Given the description of an element on the screen output the (x, y) to click on. 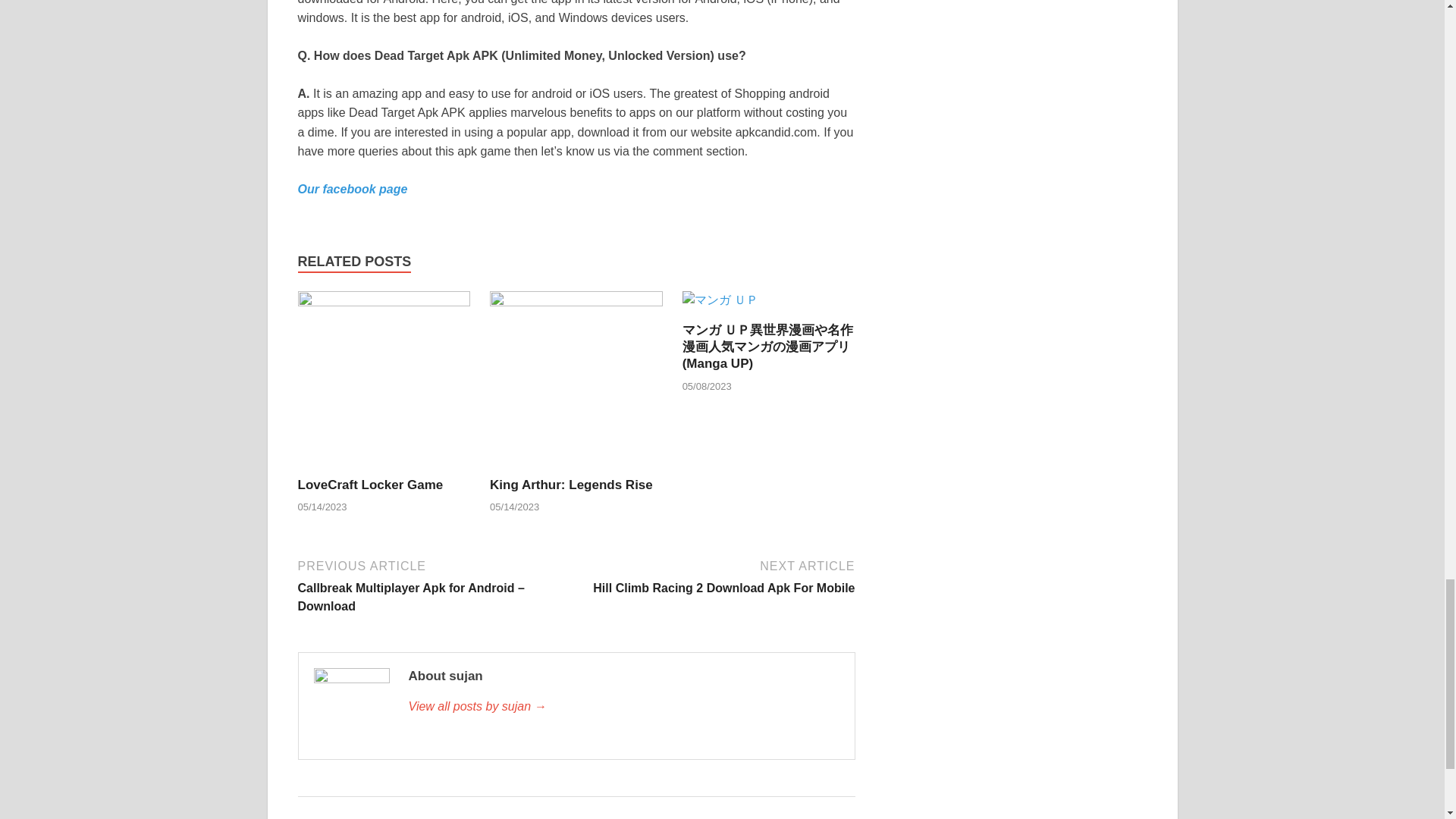
King Arthur: Legends Rise (575, 382)
LoveCraft Locker Game (383, 382)
Our facebook page (352, 188)
sujan (622, 706)
King Arthur: Legends Rise (570, 484)
LoveCraft Locker Game (369, 484)
